Given the description of an element on the screen output the (x, y) to click on. 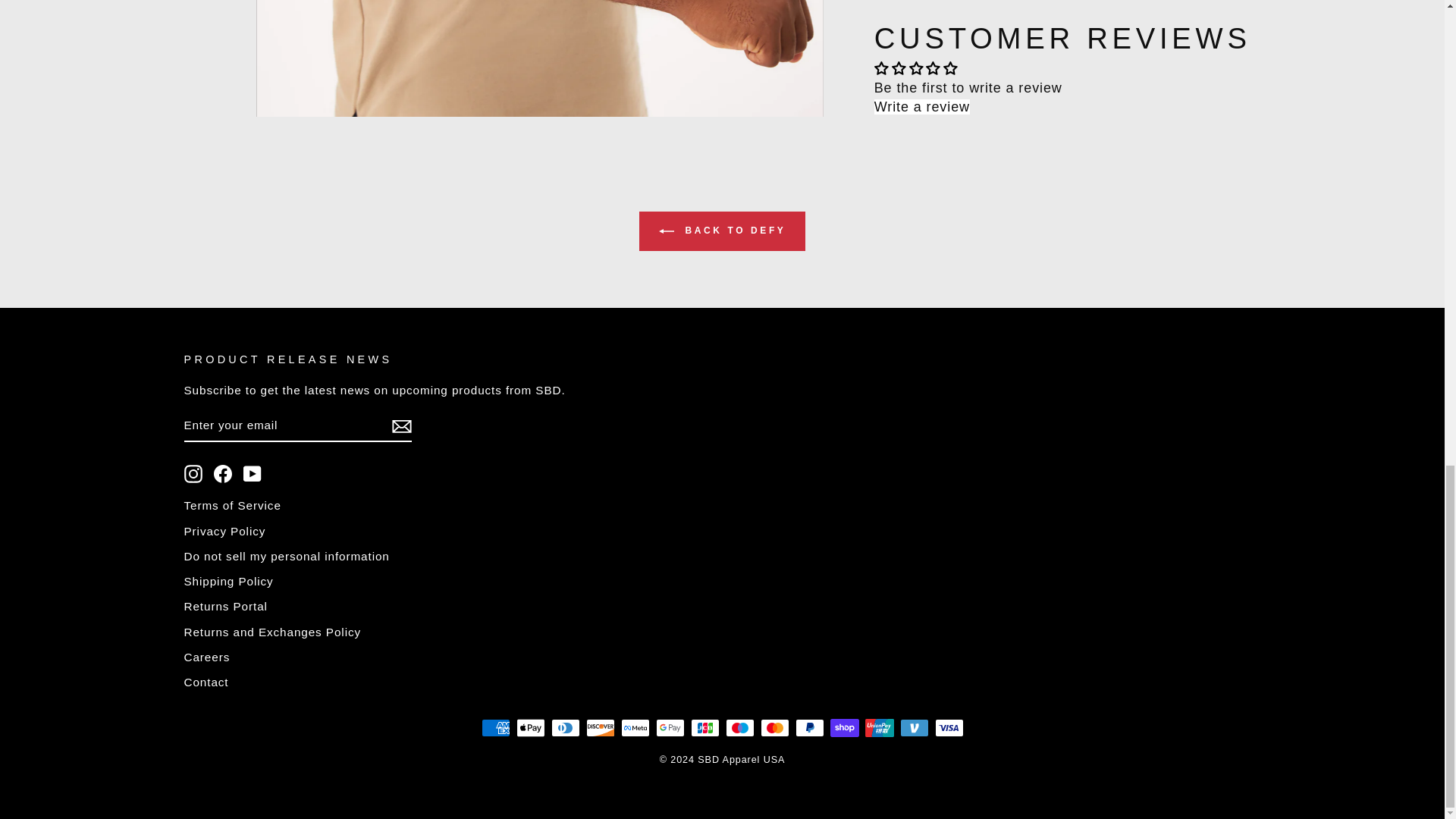
Diners Club (564, 728)
Discover (599, 728)
Apple Pay (529, 728)
Maestro (739, 728)
SBD Apparel USA on Instagram (192, 474)
icon-email (400, 425)
JCB (704, 728)
American Express (494, 728)
SBD Apparel USA on YouTube (251, 474)
instagram (192, 474)
